Given the description of an element on the screen output the (x, y) to click on. 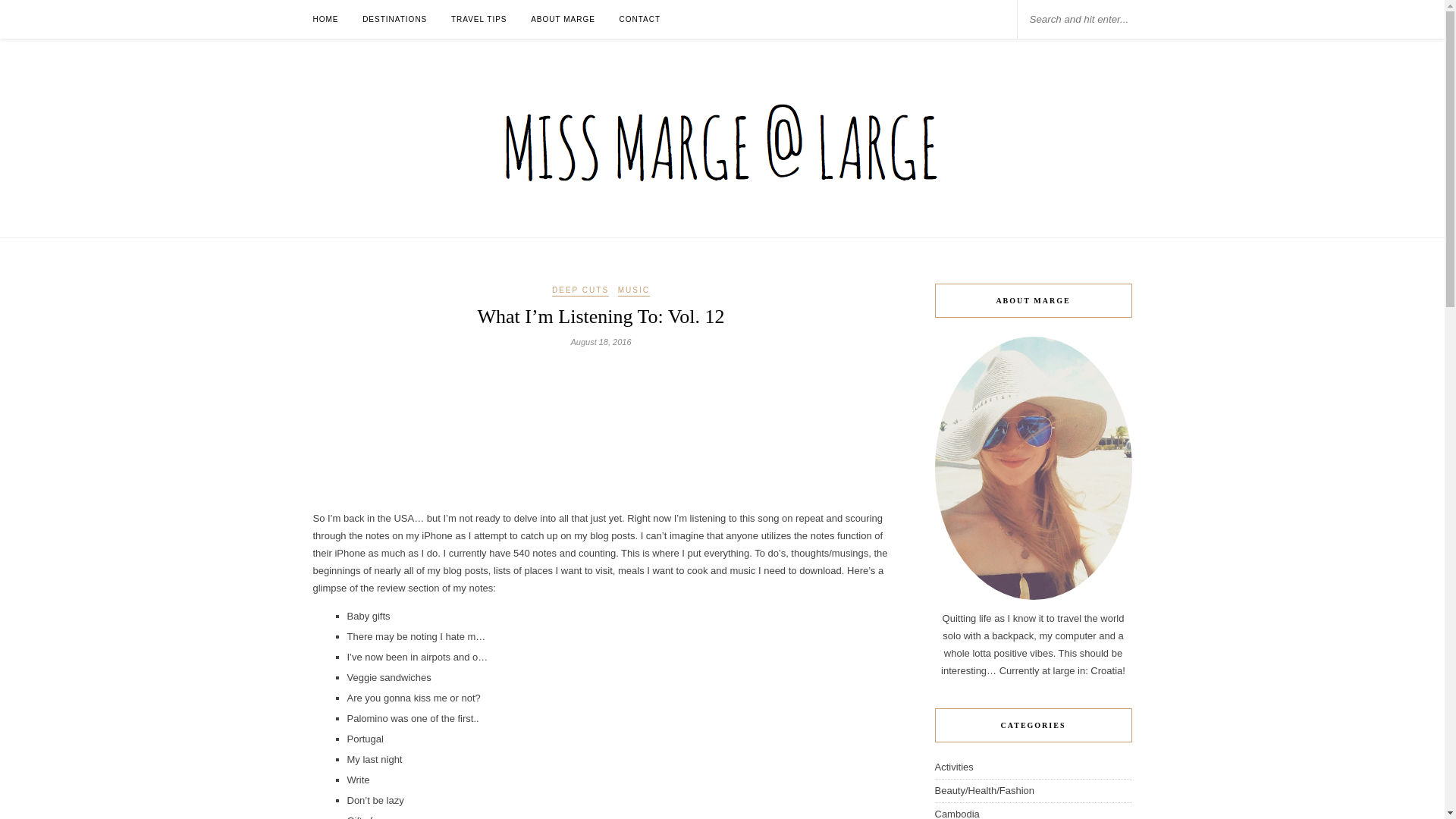
cambodia (956, 813)
CONTACT (639, 19)
View all posts in Music (633, 290)
View all posts in Deep Cuts (579, 290)
TRAVEL TIPS (478, 19)
DESTINATIONS (394, 19)
ABOUT MARGE (563, 19)
